Given the description of an element on the screen output the (x, y) to click on. 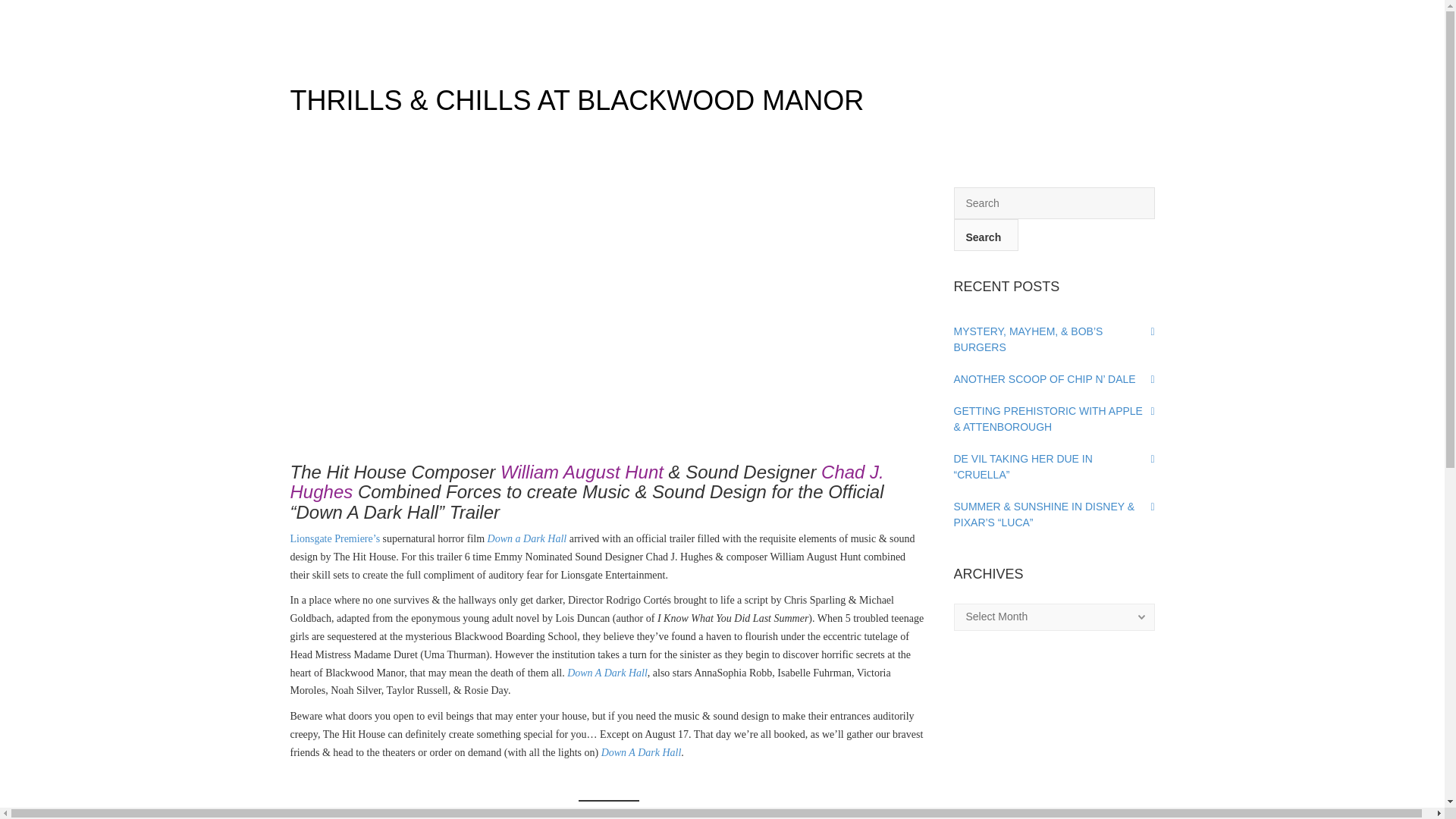
Search (986, 234)
Down A Dark Hall (641, 752)
Chad J. Hughes (586, 481)
William August Hunt (581, 471)
Down a Dark Hall (527, 538)
Down A Dark Hall (607, 672)
Search (986, 234)
